Given the description of an element on the screen output the (x, y) to click on. 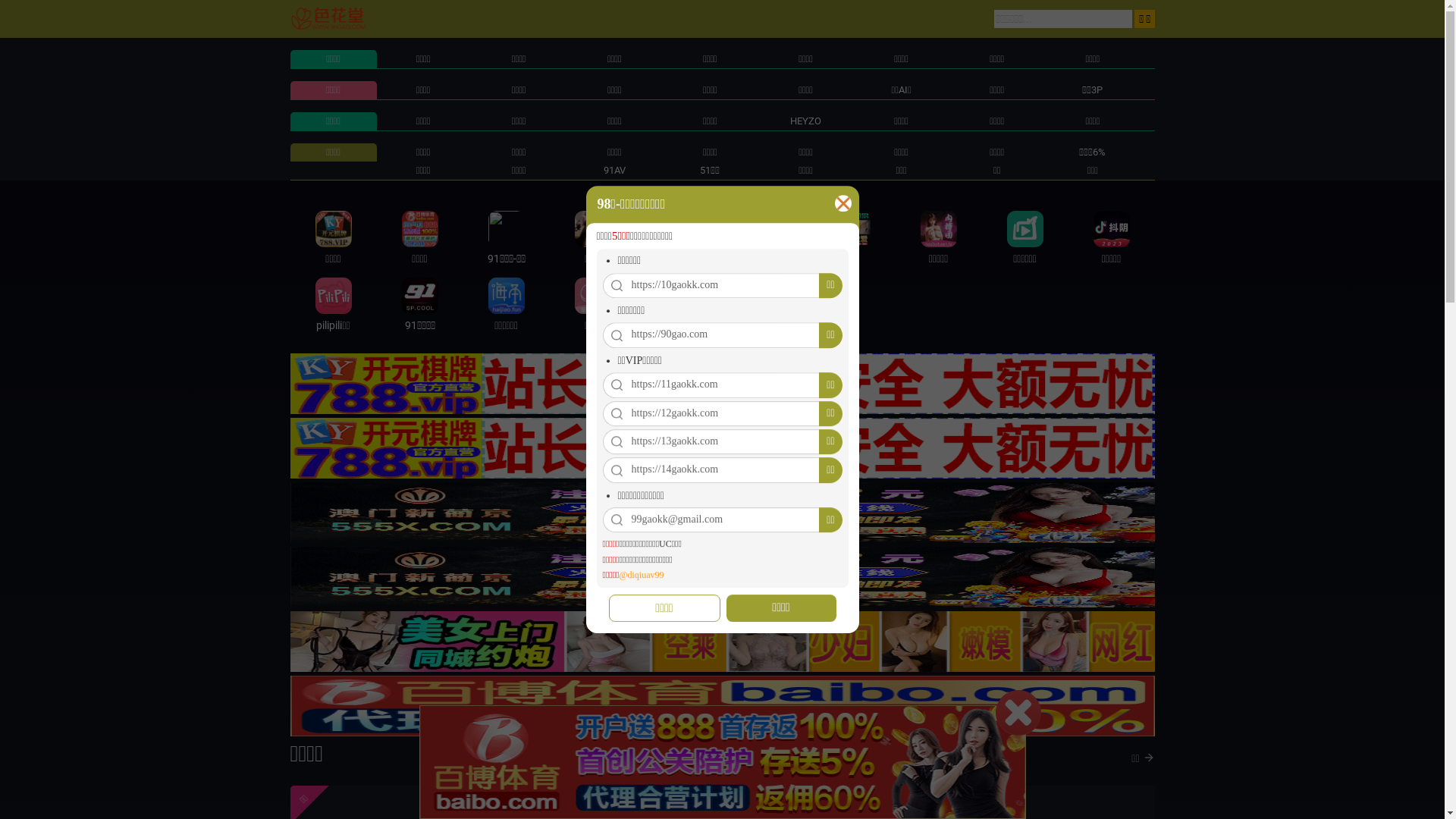
@diqiuav99 Element type: text (640, 574)
91AV Element type: text (614, 169)
HEYZO Element type: text (805, 120)
